Given the description of an element on the screen output the (x, y) to click on. 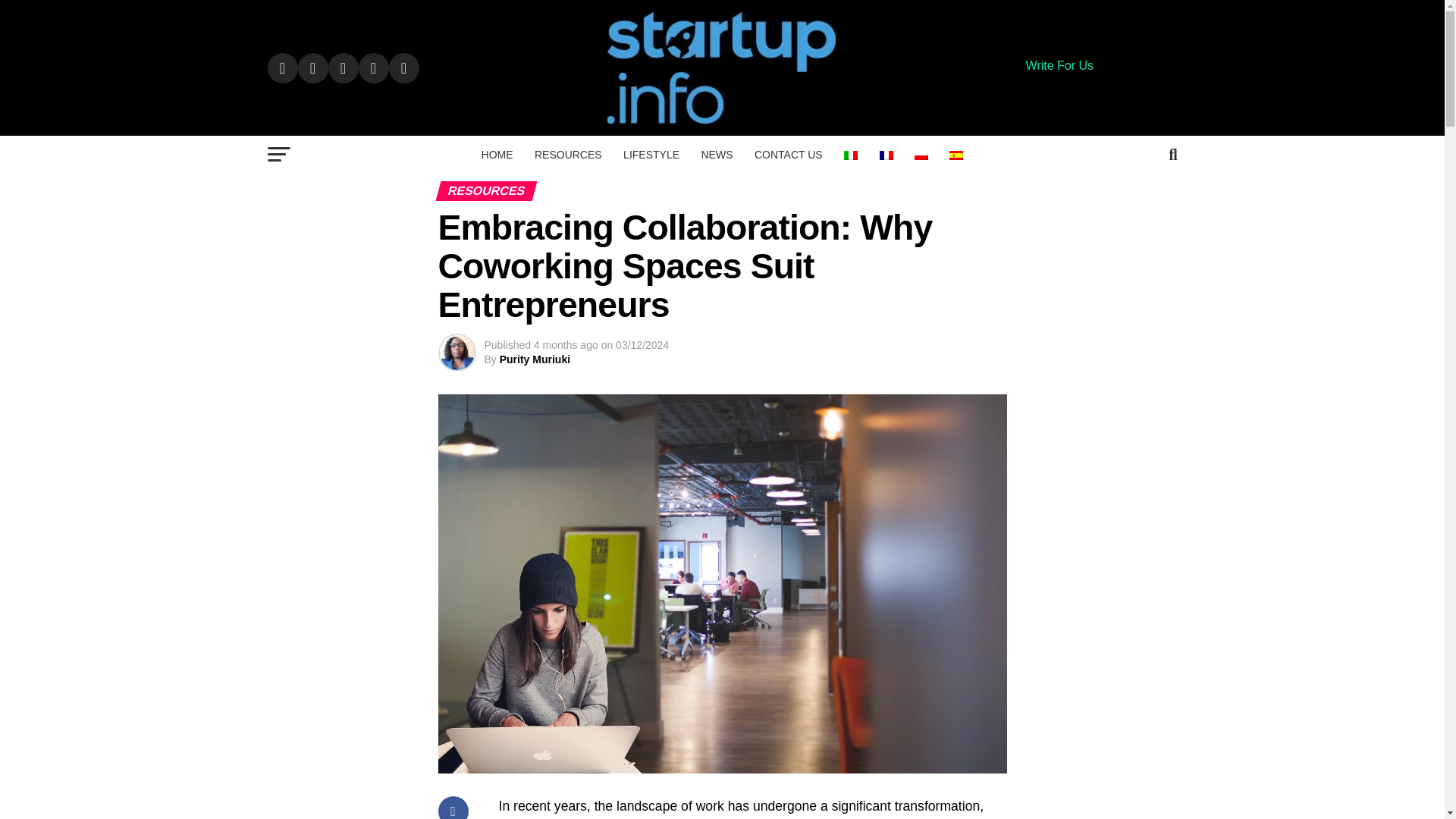
HOME (496, 154)
RESOURCES (568, 154)
Posts by Purity Muriuki (534, 358)
NEWS (716, 154)
Write For Us (1059, 65)
LIFESTYLE (651, 154)
